Given the description of an element on the screen output the (x, y) to click on. 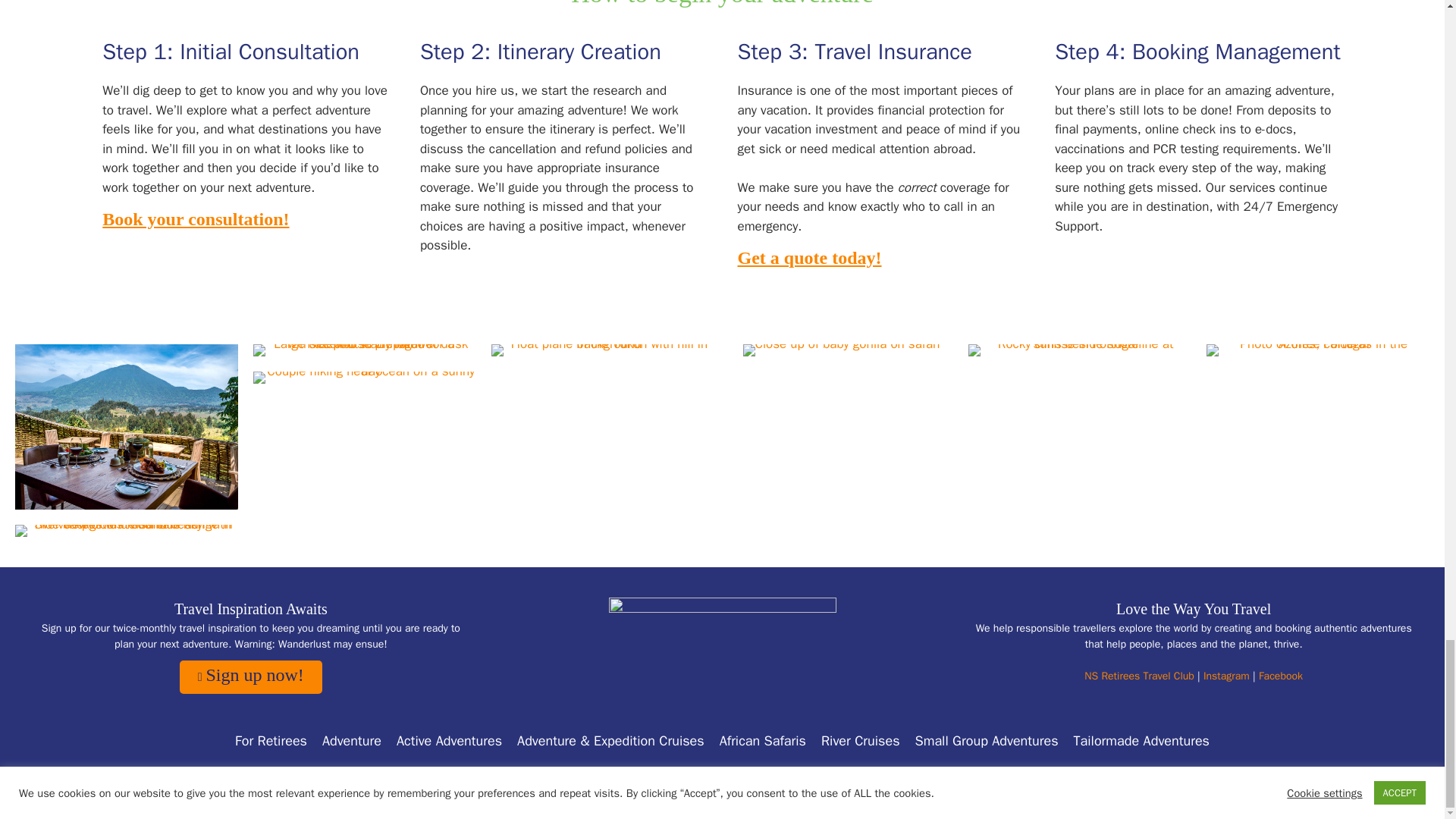
Photo Credit Government of Yukon (603, 349)
